Given the description of an element on the screen output the (x, y) to click on. 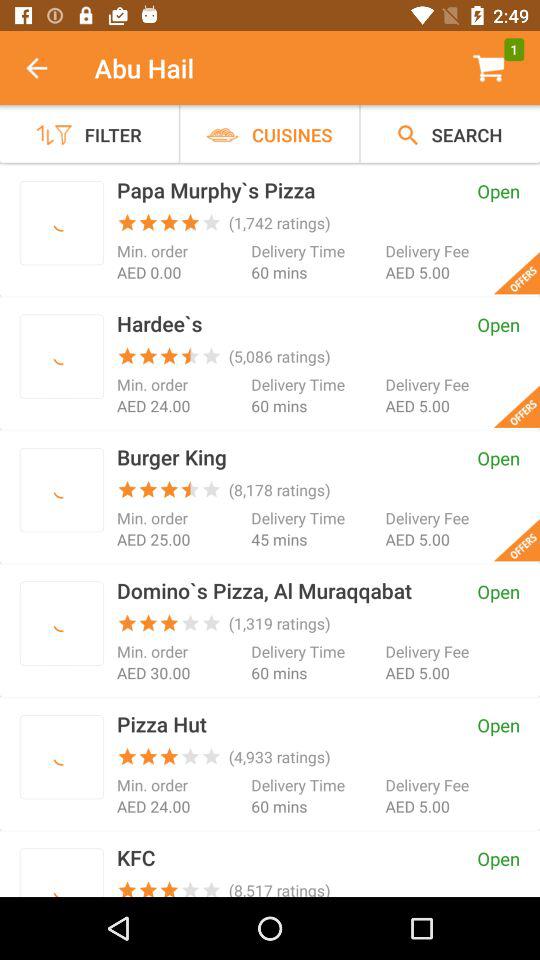
order from kfc (61, 876)
